Given the description of an element on the screen output the (x, y) to click on. 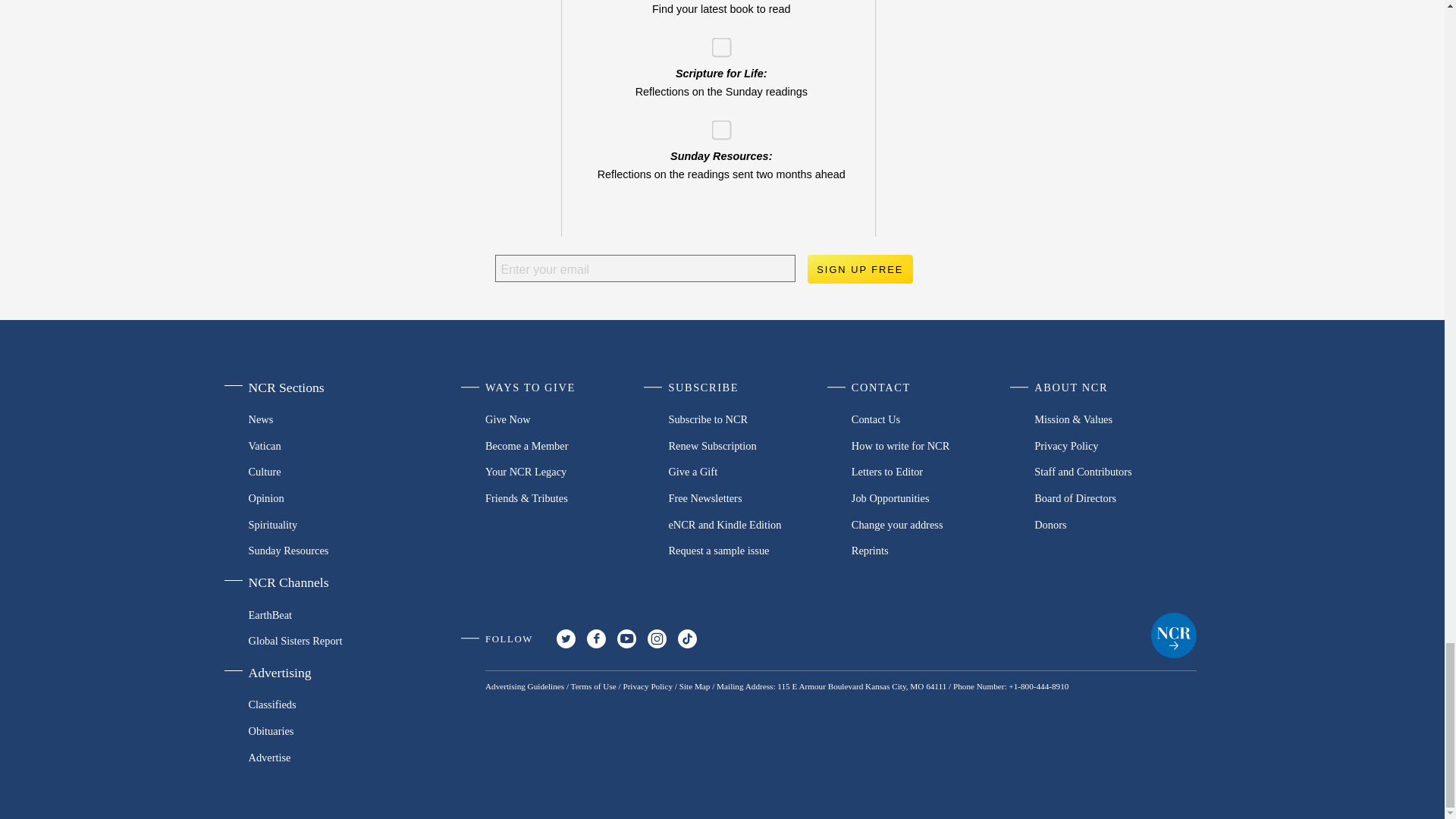
Donors (1114, 524)
Request a sample issue of NCR (748, 550)
Request a reprint of NCR content (932, 550)
dfa4c56aff (715, 124)
c25324053e (715, 41)
Advertise with NCR (324, 756)
How to write for NCR (932, 445)
Sign up free (859, 268)
Change your address (932, 524)
